Given the description of an element on the screen output the (x, y) to click on. 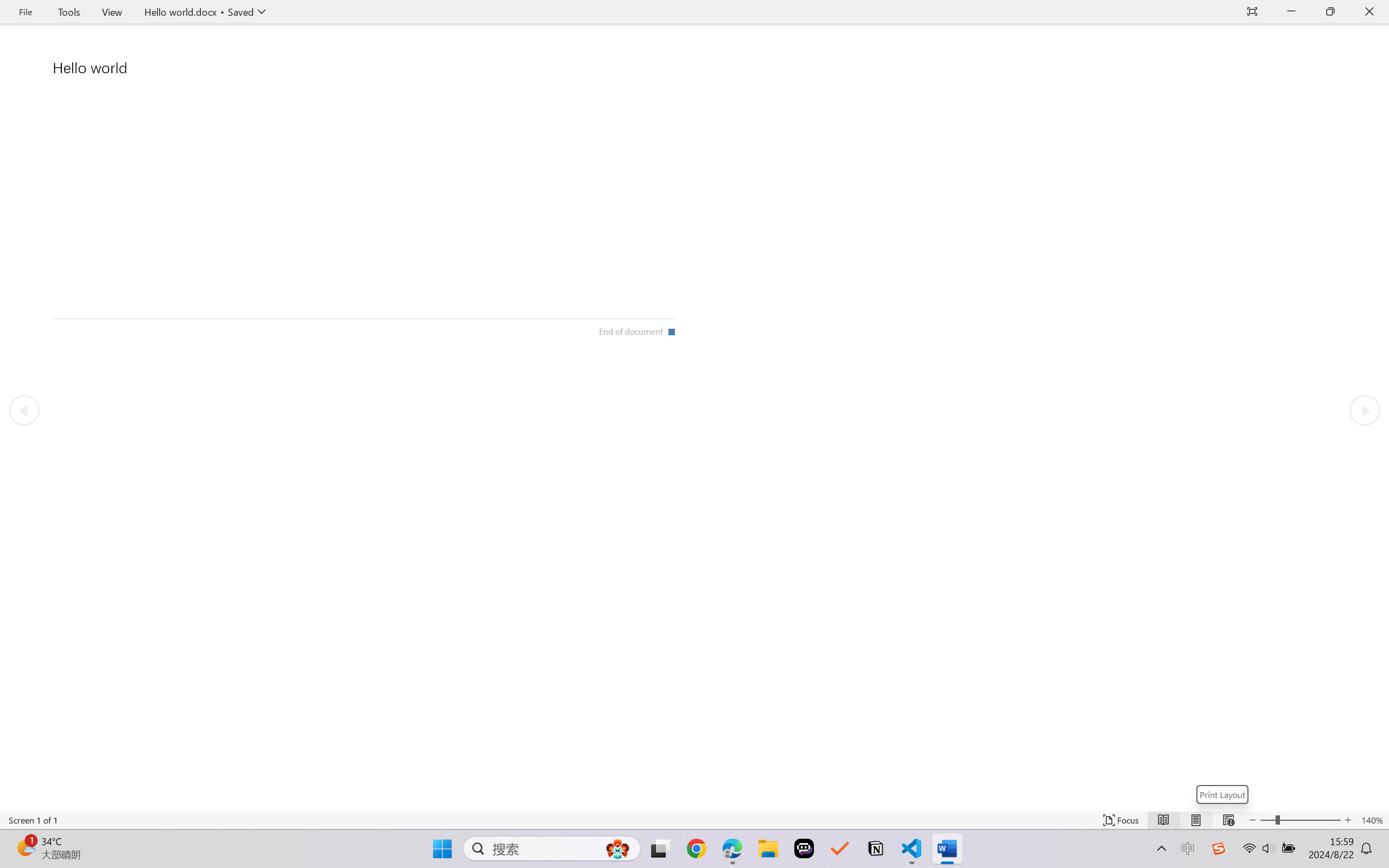
Page Number Screen 1 of 1  (32, 819)
AutomationID: DynamicSearchBoxGleamImage (617, 848)
Tools (69, 11)
View (112, 11)
Print Layout (1196, 819)
Read Mode (1163, 819)
Zoom In (1310, 819)
Web Layout (1228, 819)
Minimize (1291, 11)
Decrease Text Size (1252, 819)
Print Layout (1221, 793)
Zoom Out (1267, 819)
Class: MsoCommandBar (694, 819)
